Given the description of an element on the screen output the (x, y) to click on. 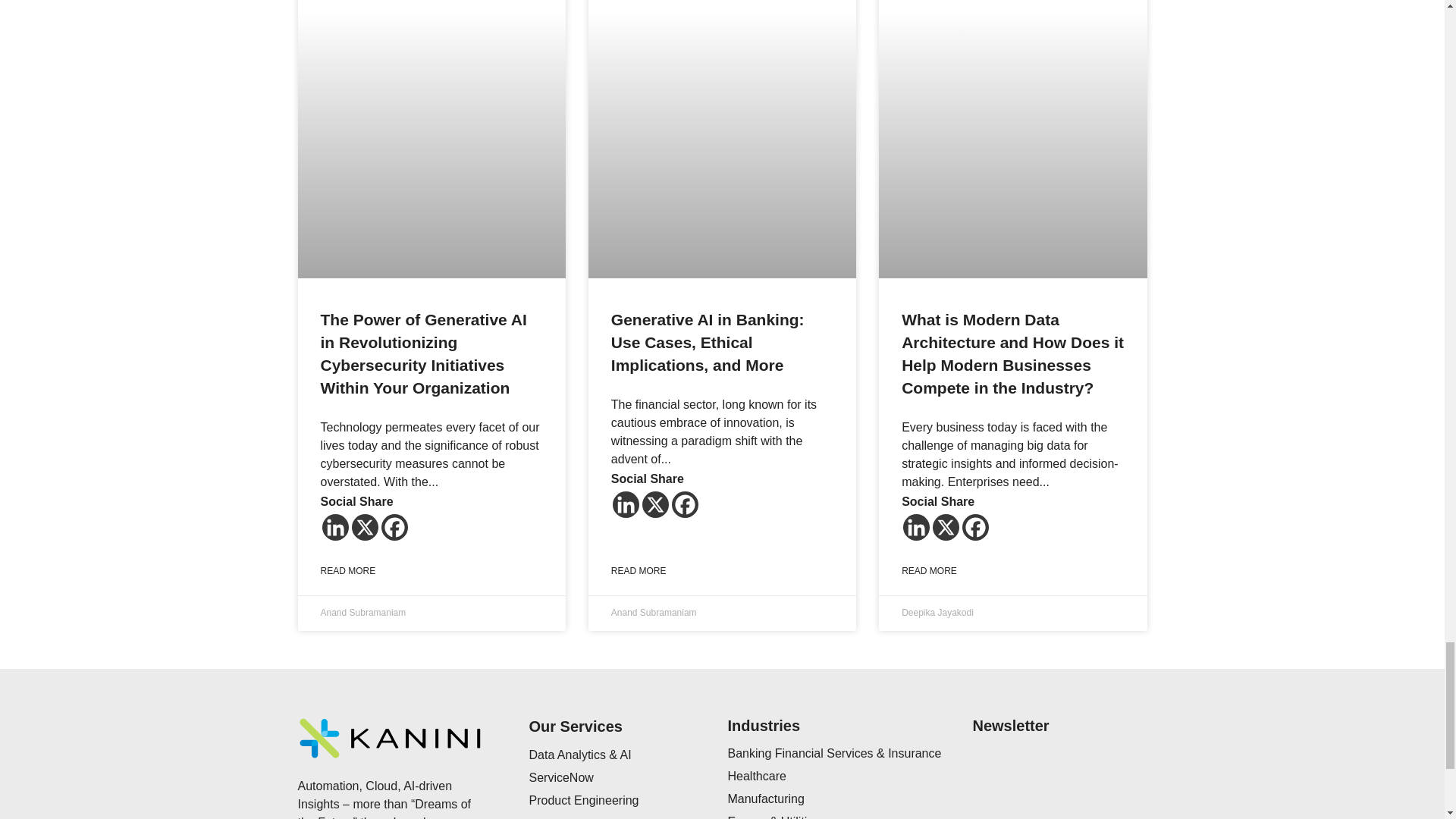
Linkedin (334, 527)
Linkedin (916, 527)
Facebook (975, 527)
Facebook (393, 527)
X (655, 504)
X (365, 527)
X (946, 527)
Linkedin (625, 504)
Facebook (684, 504)
